Given the description of an element on the screen output the (x, y) to click on. 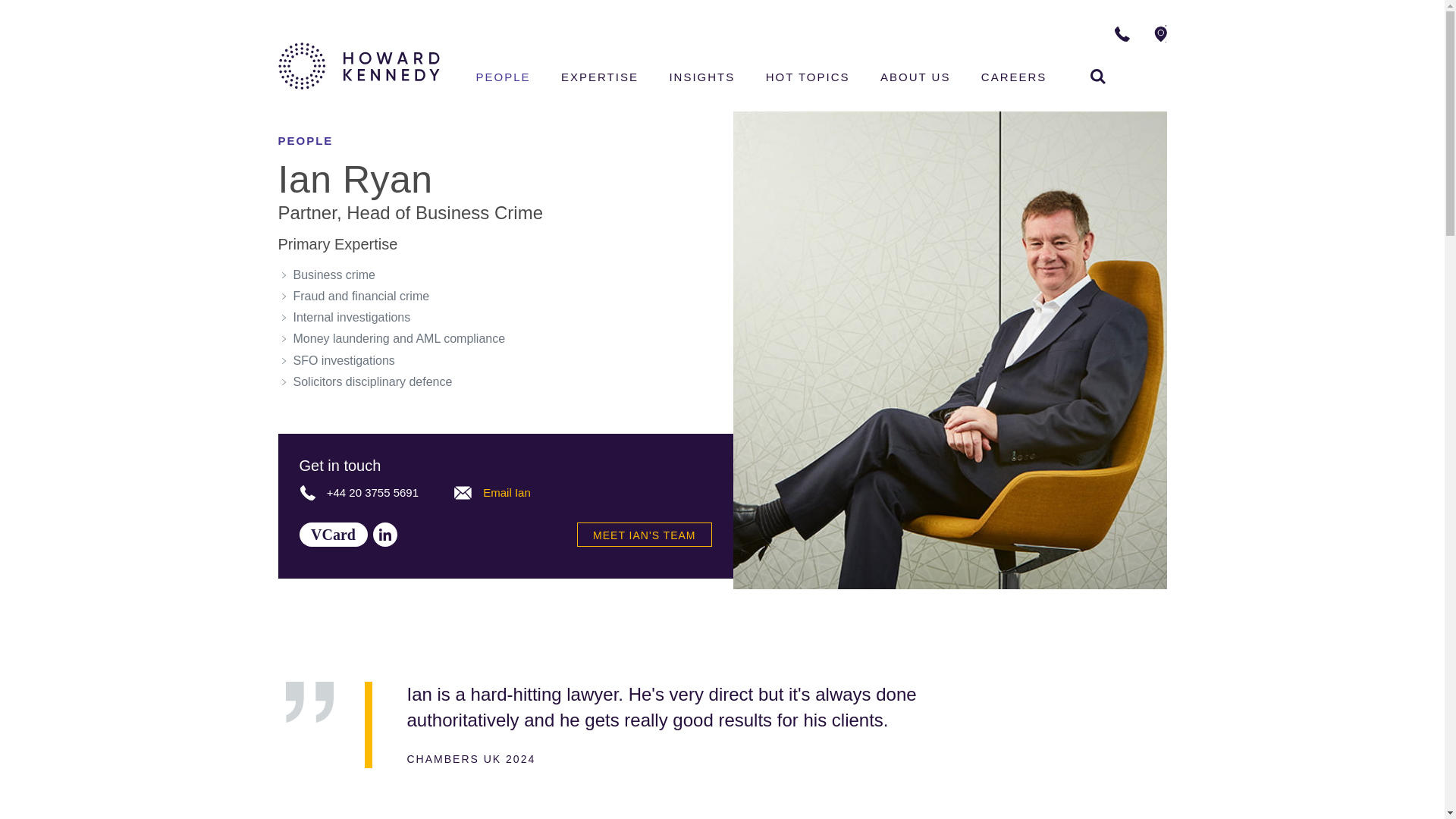
Email icon (461, 492)
CONTACT US (1215, 33)
EXPERTISE (599, 79)
Linkedin icon (332, 534)
Search icon (384, 534)
PEOPLE (1097, 76)
